Given the description of an element on the screen output the (x, y) to click on. 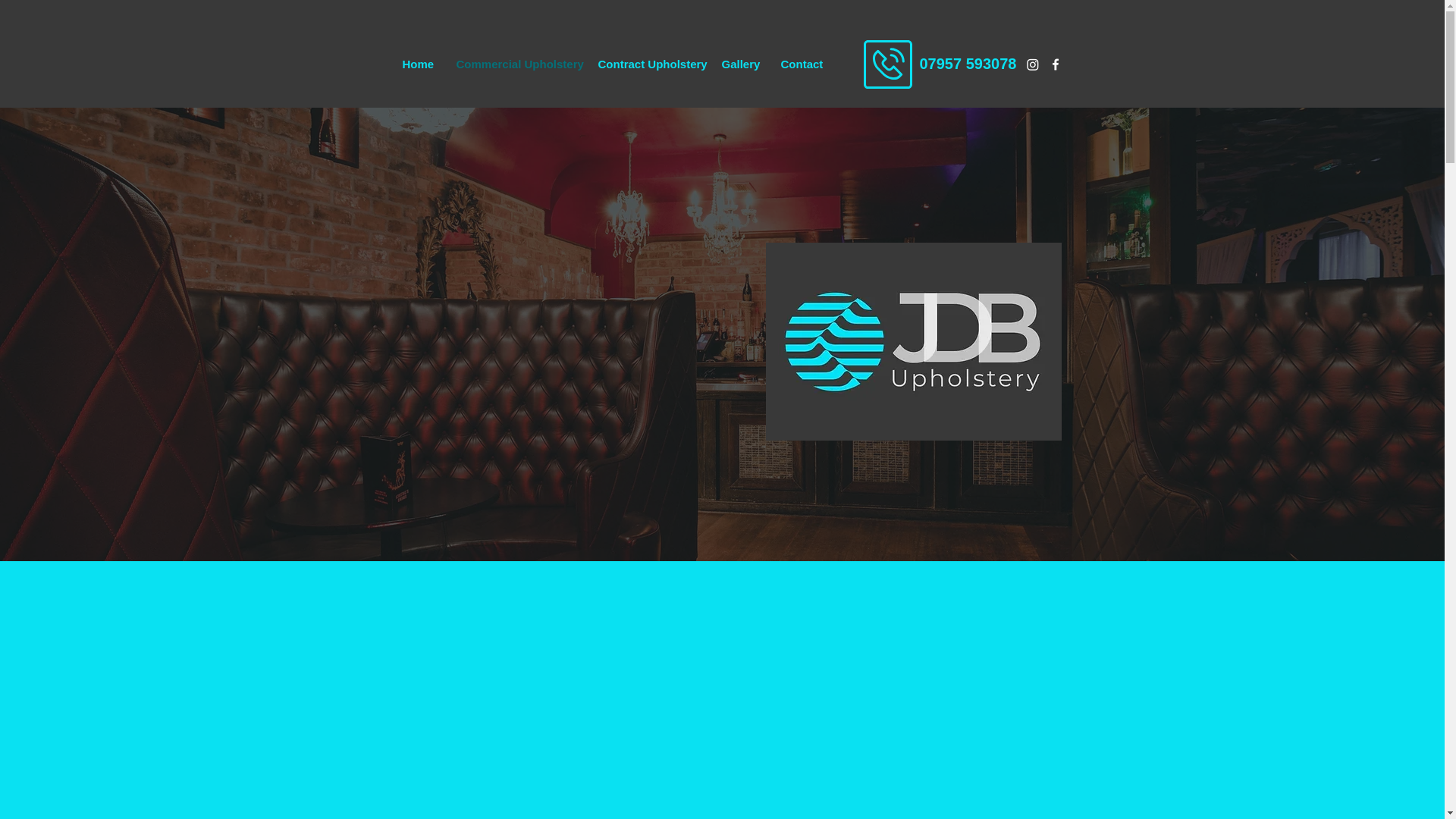
Contract Upholstery (648, 64)
Commercial Upholstery (515, 64)
Contact (799, 64)
Gallery (739, 64)
Home (418, 64)
